Given the description of an element on the screen output the (x, y) to click on. 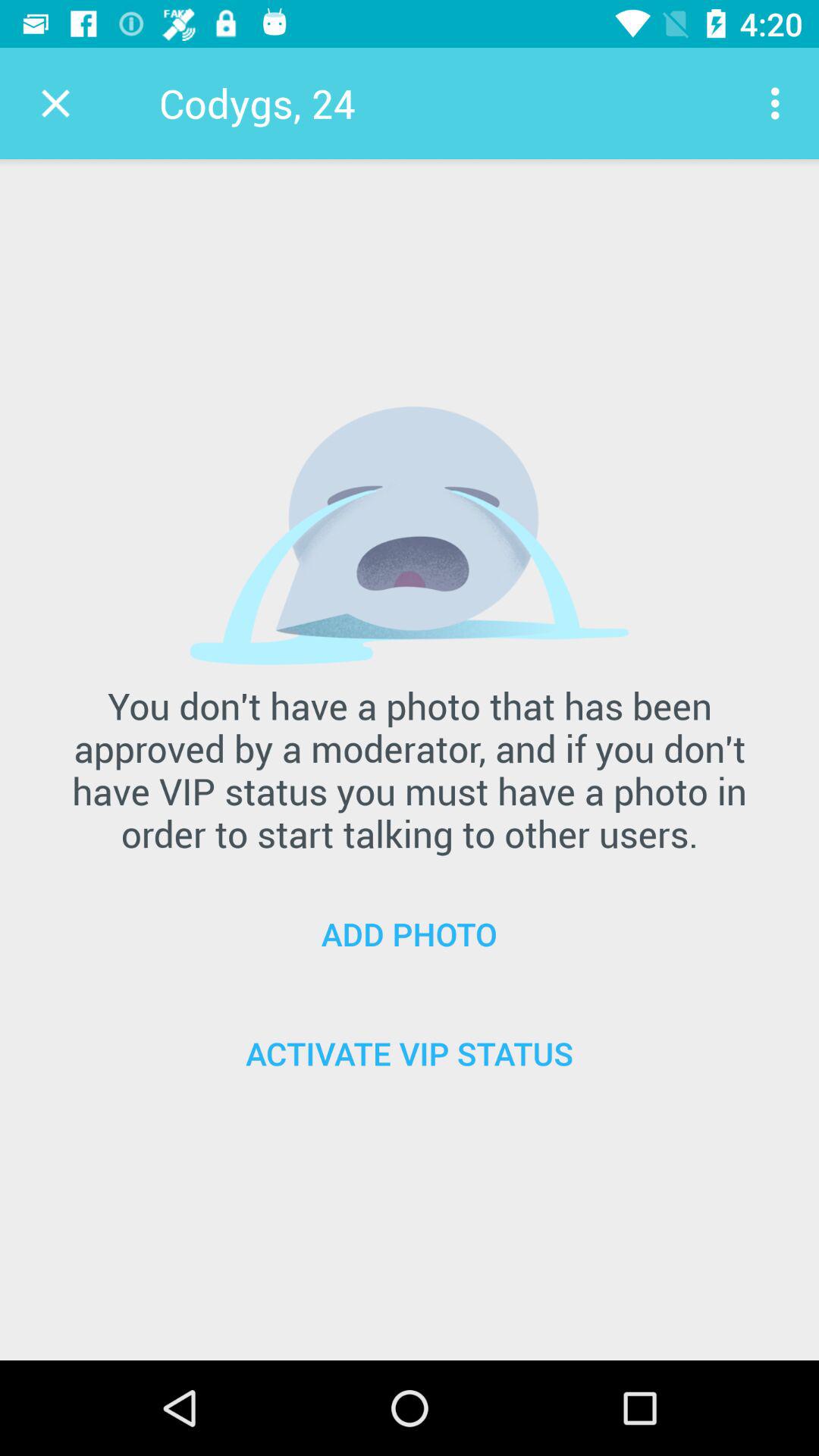
choose item to the left of codygs, 24 item (55, 103)
